Given the description of an element on the screen output the (x, y) to click on. 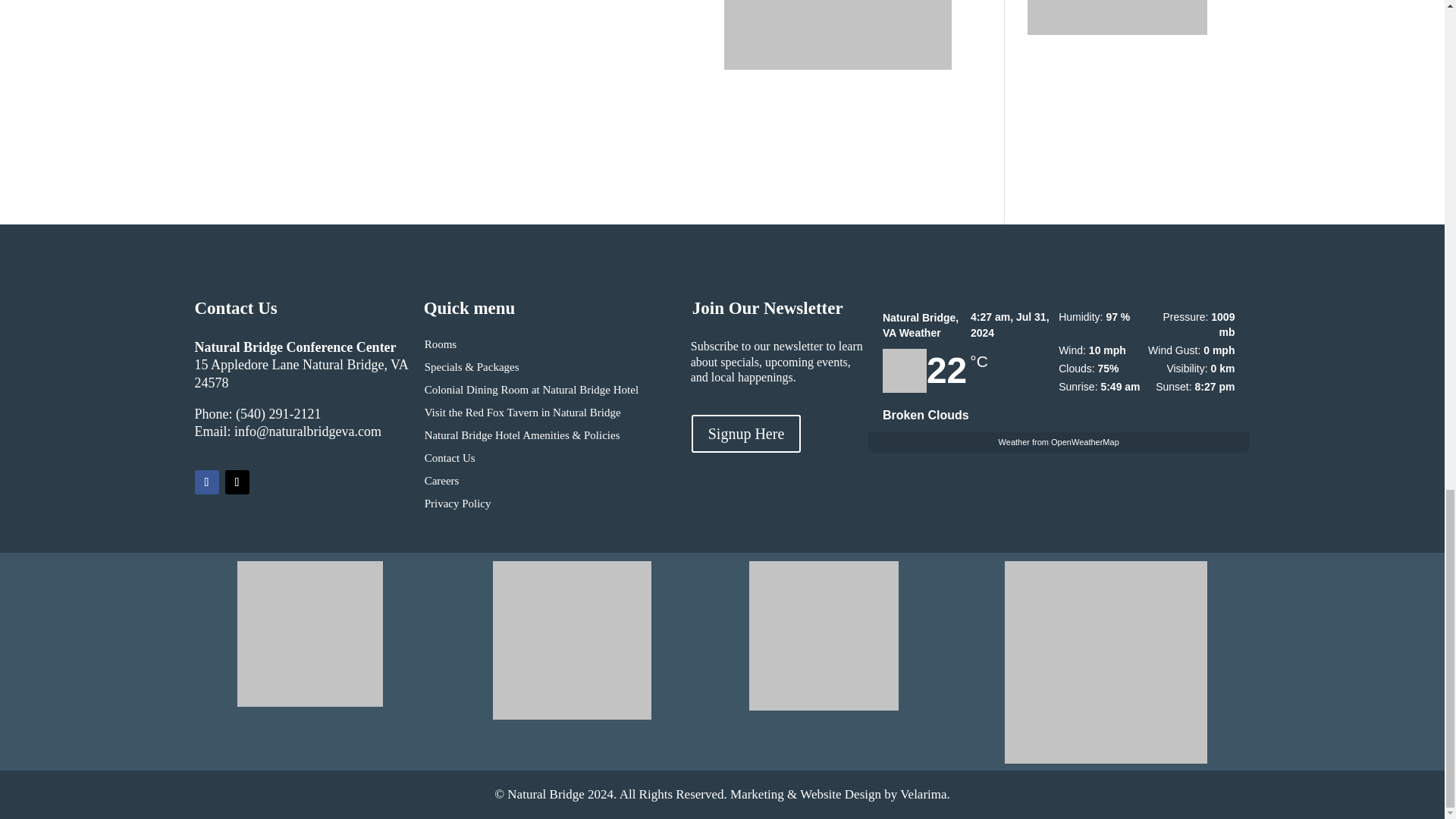
Follow on X (236, 482)
Follow on Facebook (205, 482)
